Given the description of an element on the screen output the (x, y) to click on. 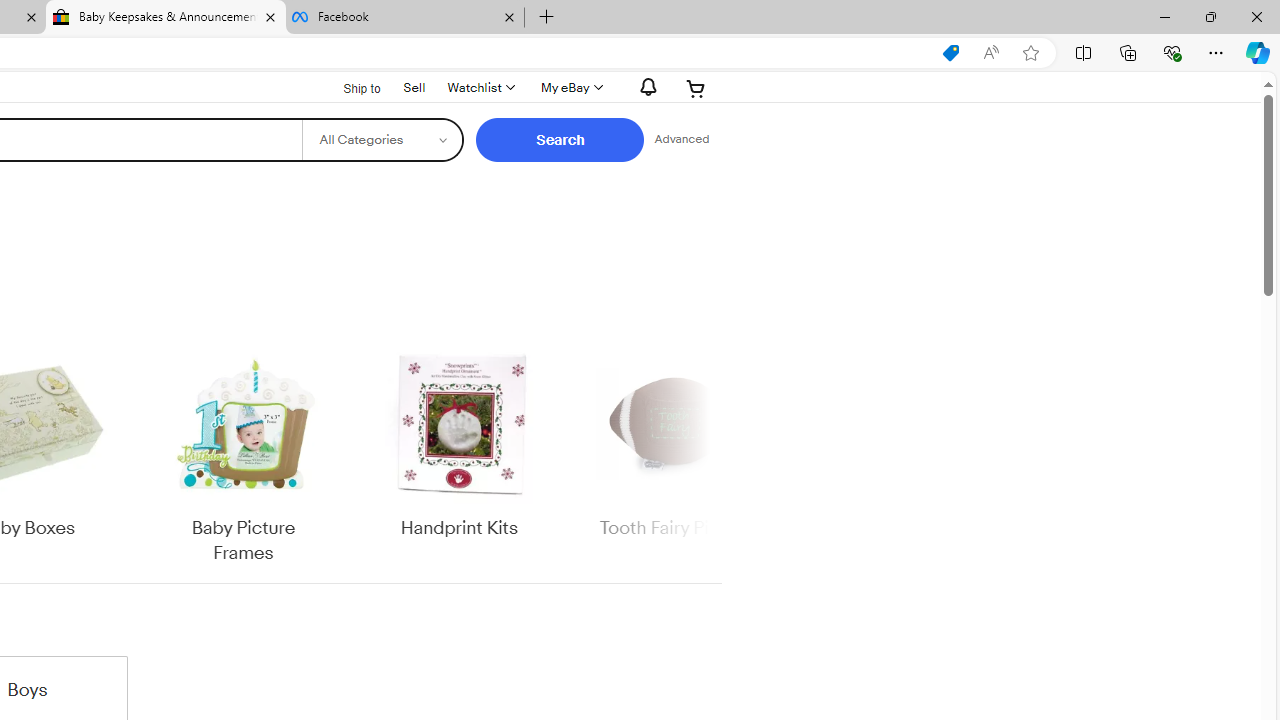
Advanced Search (681, 139)
Ship to (349, 86)
My eBay (569, 88)
Sell (414, 87)
Ship to (349, 89)
Expand Cart (696, 88)
Go to next slide (708, 455)
WatchlistExpand Watch List (479, 88)
Baby Keepsakes & Announcements for sale | eBay (166, 17)
Baby Picture Frames (243, 455)
Facebook (404, 17)
